Given the description of an element on the screen output the (x, y) to click on. 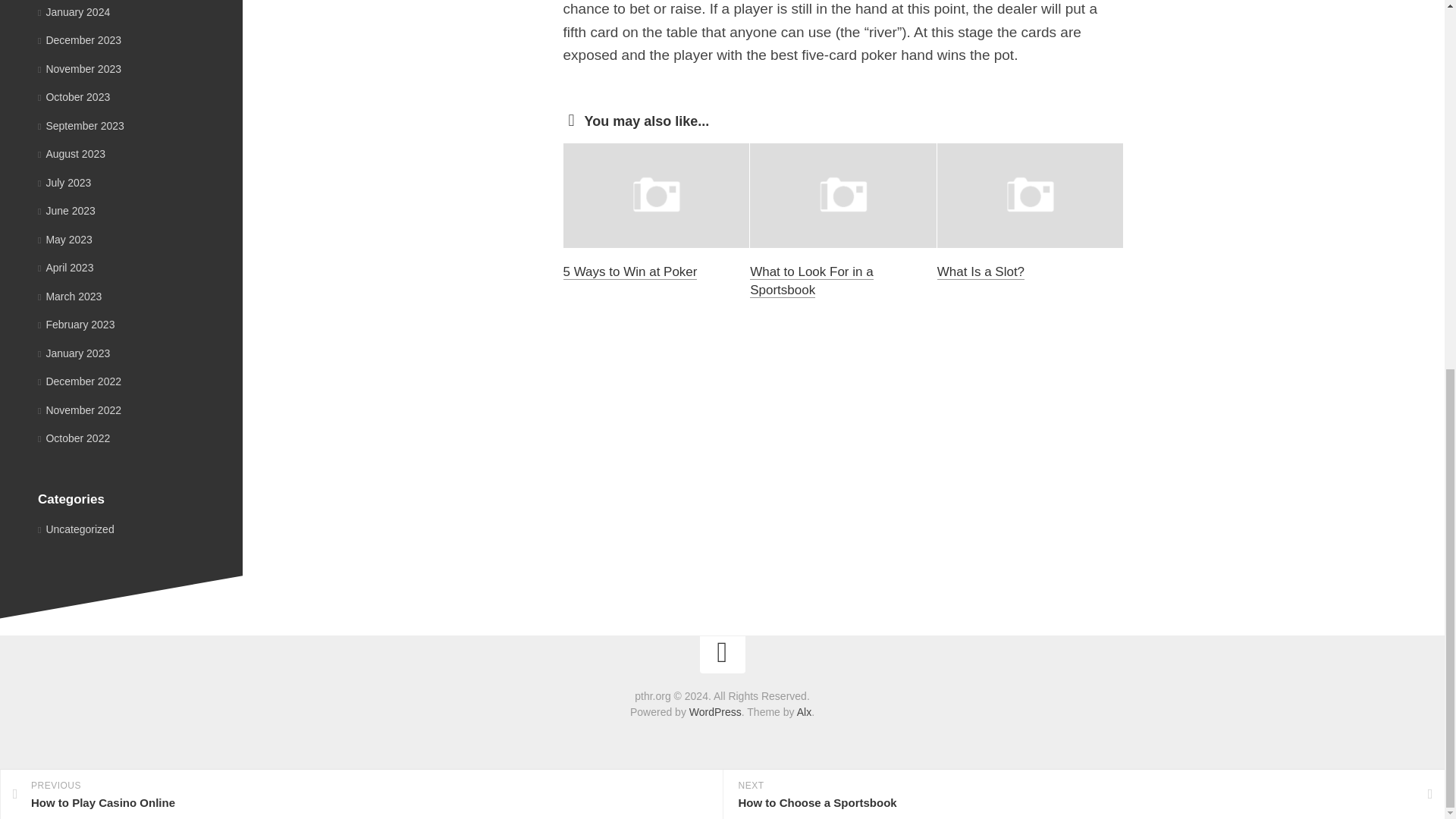
December 2023 (78, 39)
May 2023 (65, 238)
September 2023 (80, 124)
January 2024 (73, 10)
March 2023 (69, 296)
April 2023 (65, 267)
October 2023 (73, 96)
November 2023 (78, 69)
What to Look For in a Sportsbook (361, 125)
November 2022 (811, 280)
June 2023 (78, 410)
January 2023 (66, 210)
February 2023 (73, 352)
August 2023 (76, 324)
